Given the description of an element on the screen output the (x, y) to click on. 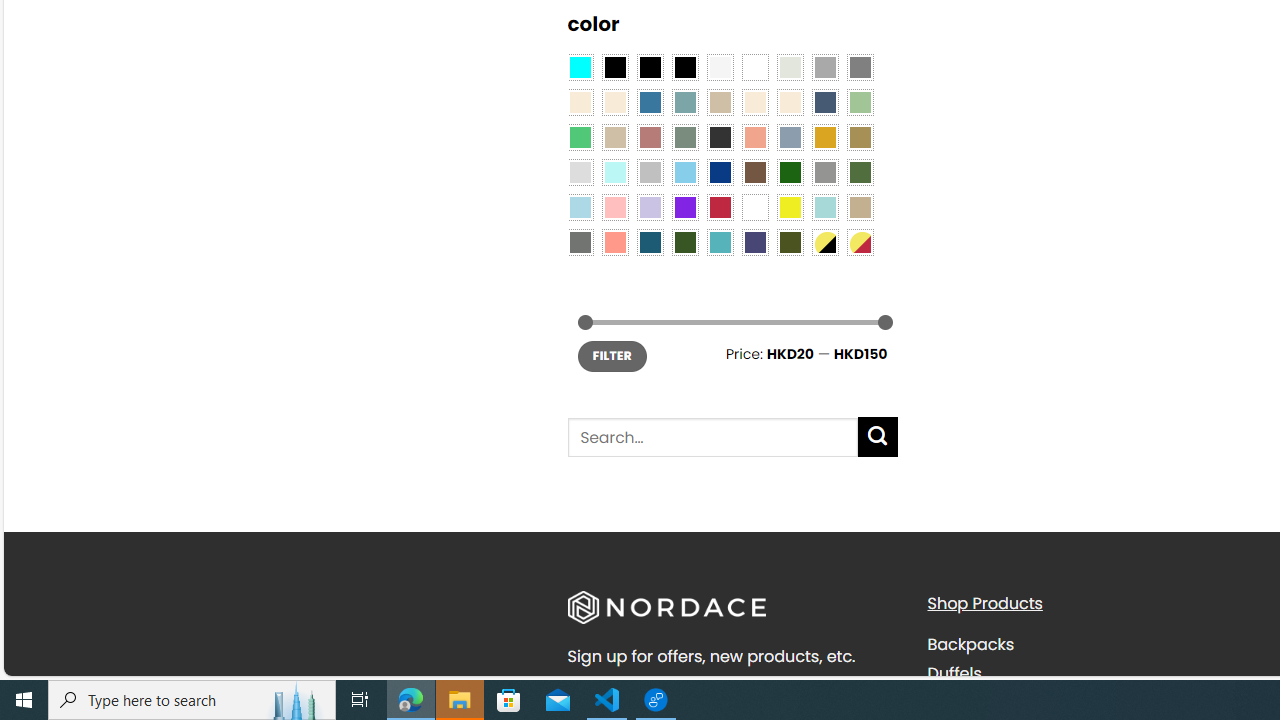
Hale Navy (824, 102)
Dusty Blue (789, 138)
Backpacks (970, 644)
Red (719, 208)
Coral (755, 138)
Gold (824, 138)
Duffels (1092, 673)
Pearly White (719, 67)
Blue (650, 102)
White (755, 208)
Ash Gray (789, 67)
Purple Navy (755, 242)
Peach Pink (614, 242)
Light Green (859, 102)
Black (650, 67)
